Given the description of an element on the screen output the (x, y) to click on. 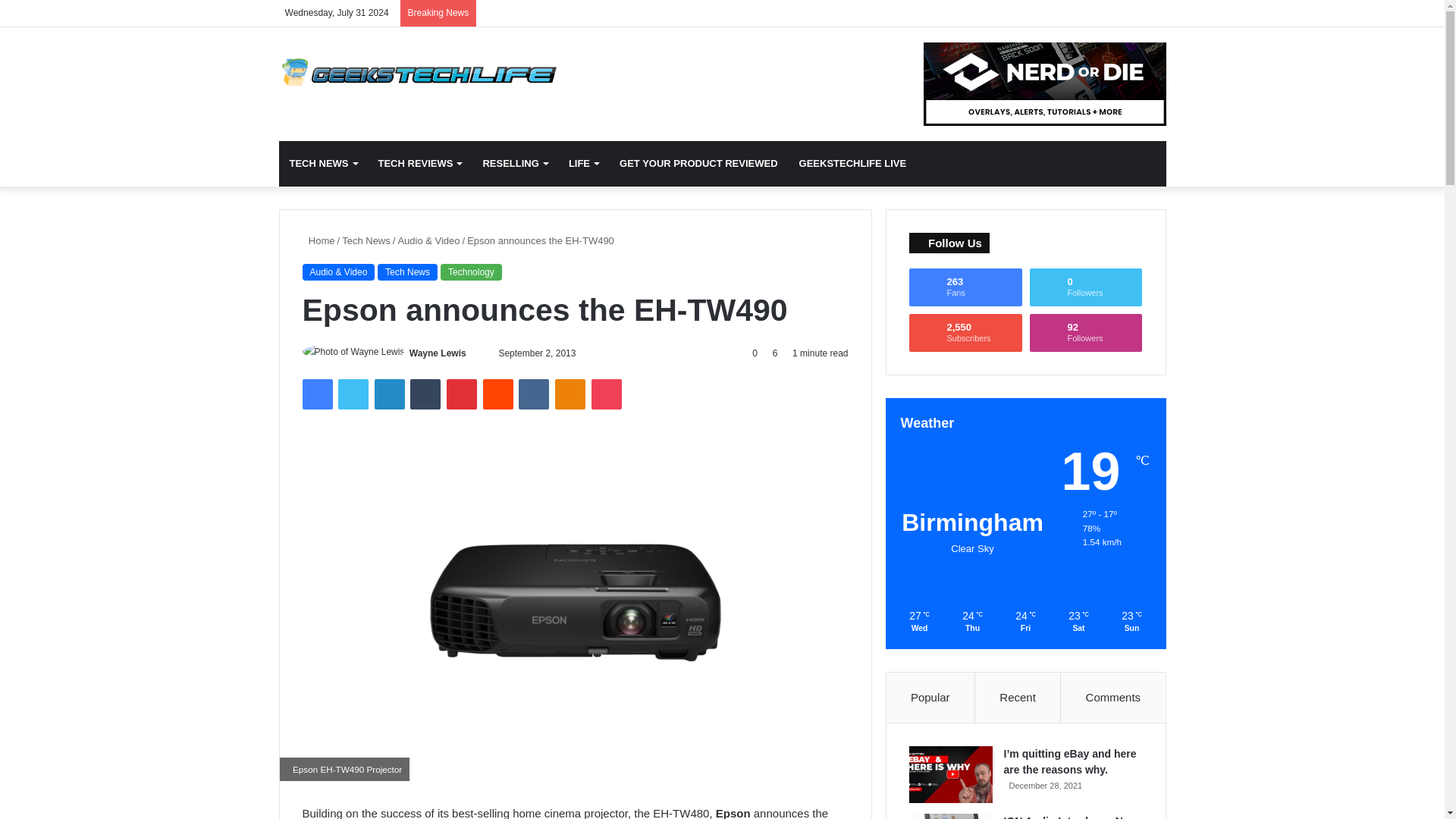
GeeksTechLife (419, 72)
TECH NEWS (323, 163)
Pinterest (461, 394)
Facebook (316, 394)
LinkedIn (389, 394)
VKontakte (533, 394)
Wayne Lewis (437, 353)
Tumblr (425, 394)
Reddit (498, 394)
Twitter (352, 394)
